Given the description of an element on the screen output the (x, y) to click on. 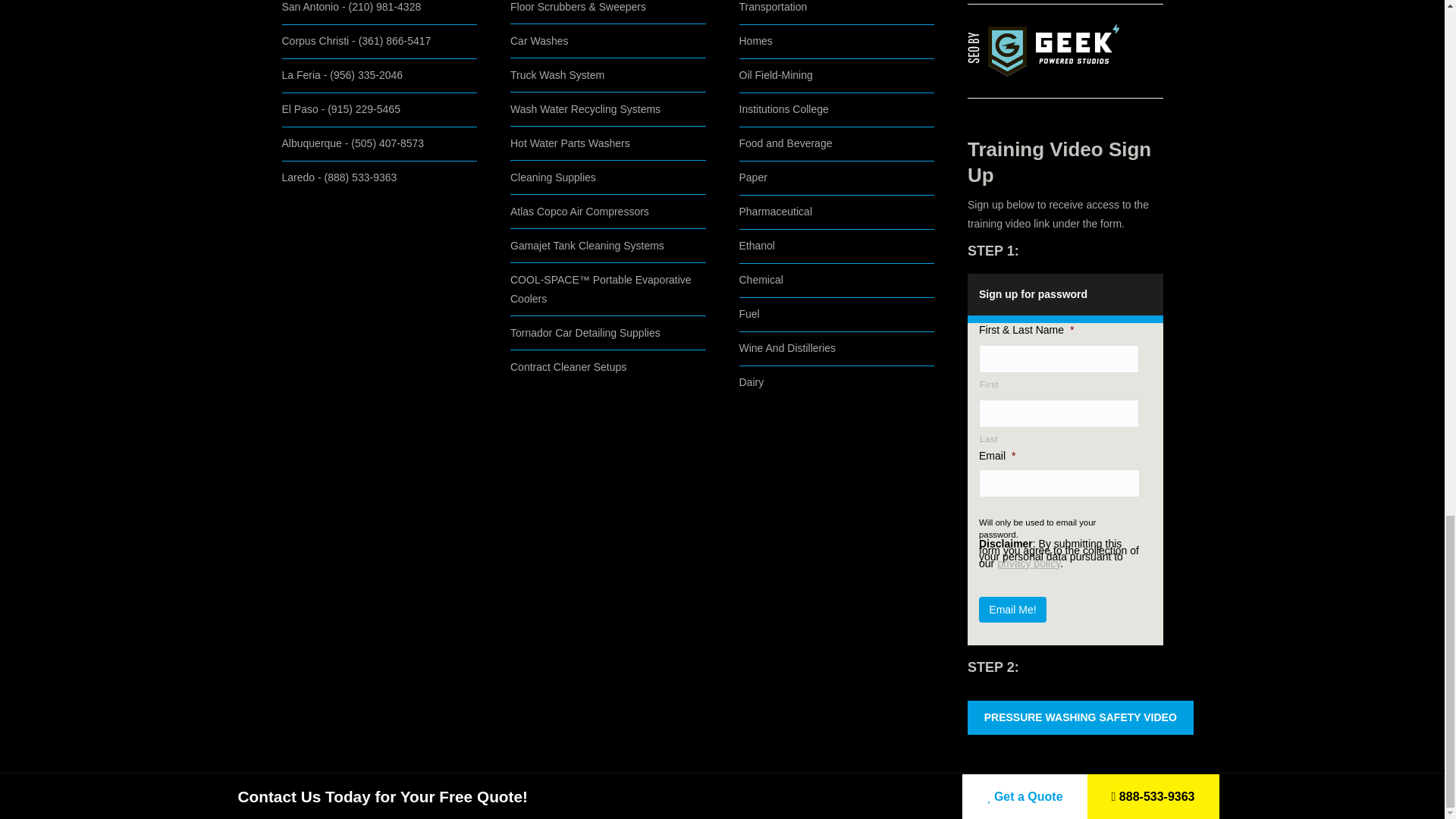
Email Me! (1012, 609)
